Given the description of an element on the screen output the (x, y) to click on. 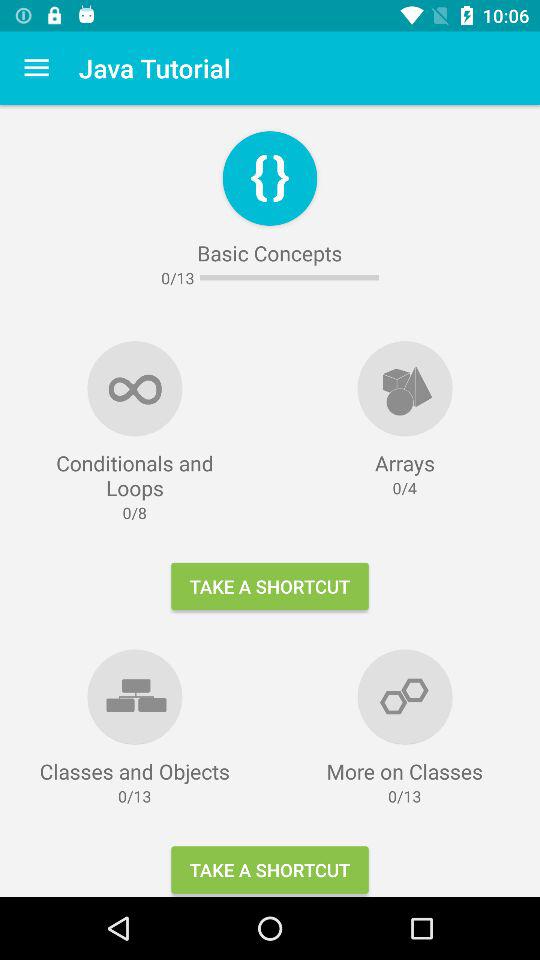
select the icon above the button conditionals and loops on the web page (134, 388)
select the logo classes and objects (134, 696)
click on first right image from the bottom (404, 696)
click the first button take a shortcut on the web page (270, 586)
